Given the description of an element on the screen output the (x, y) to click on. 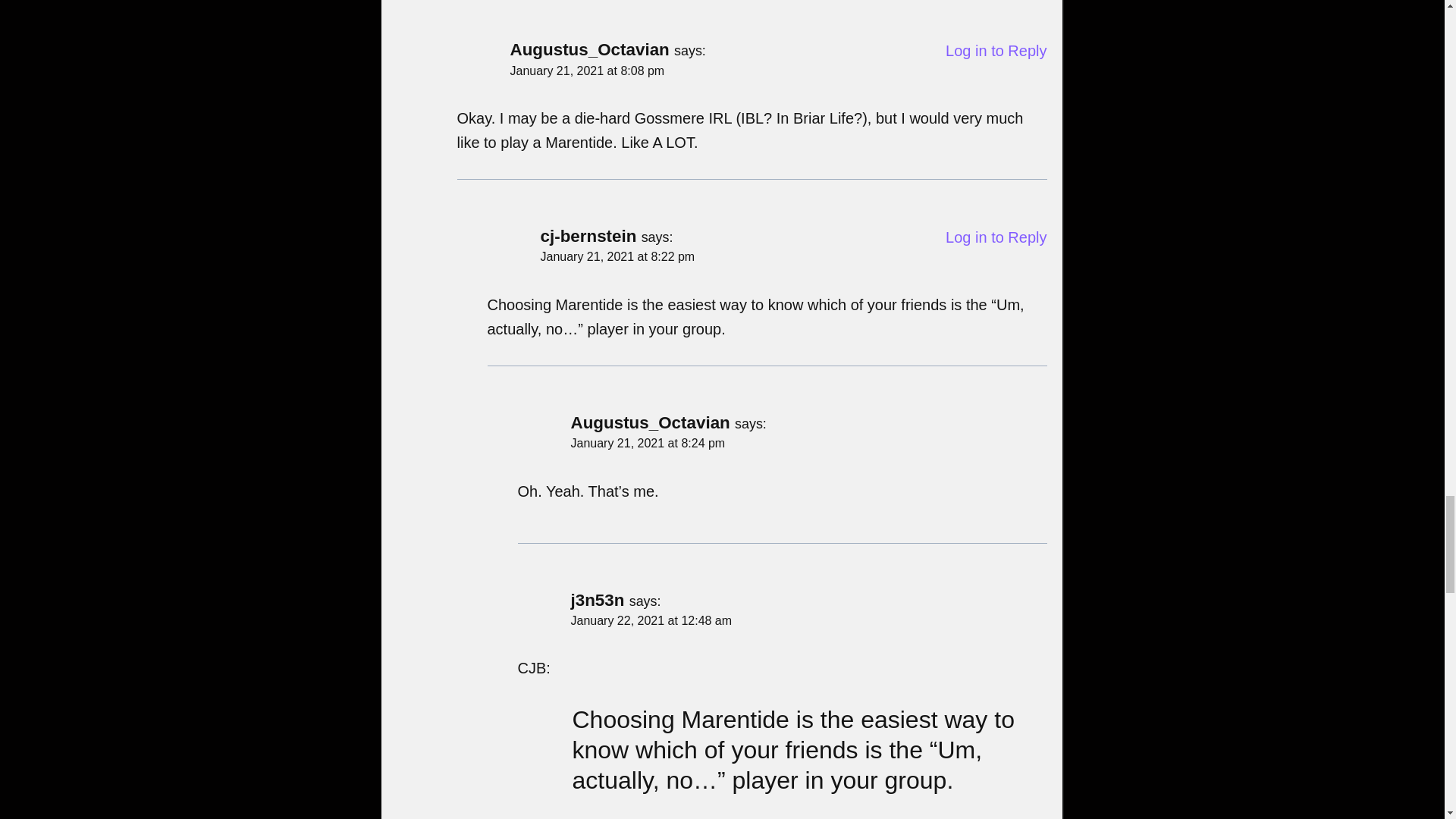
:grimacing: (524, 510)
